Given the description of an element on the screen output the (x, y) to click on. 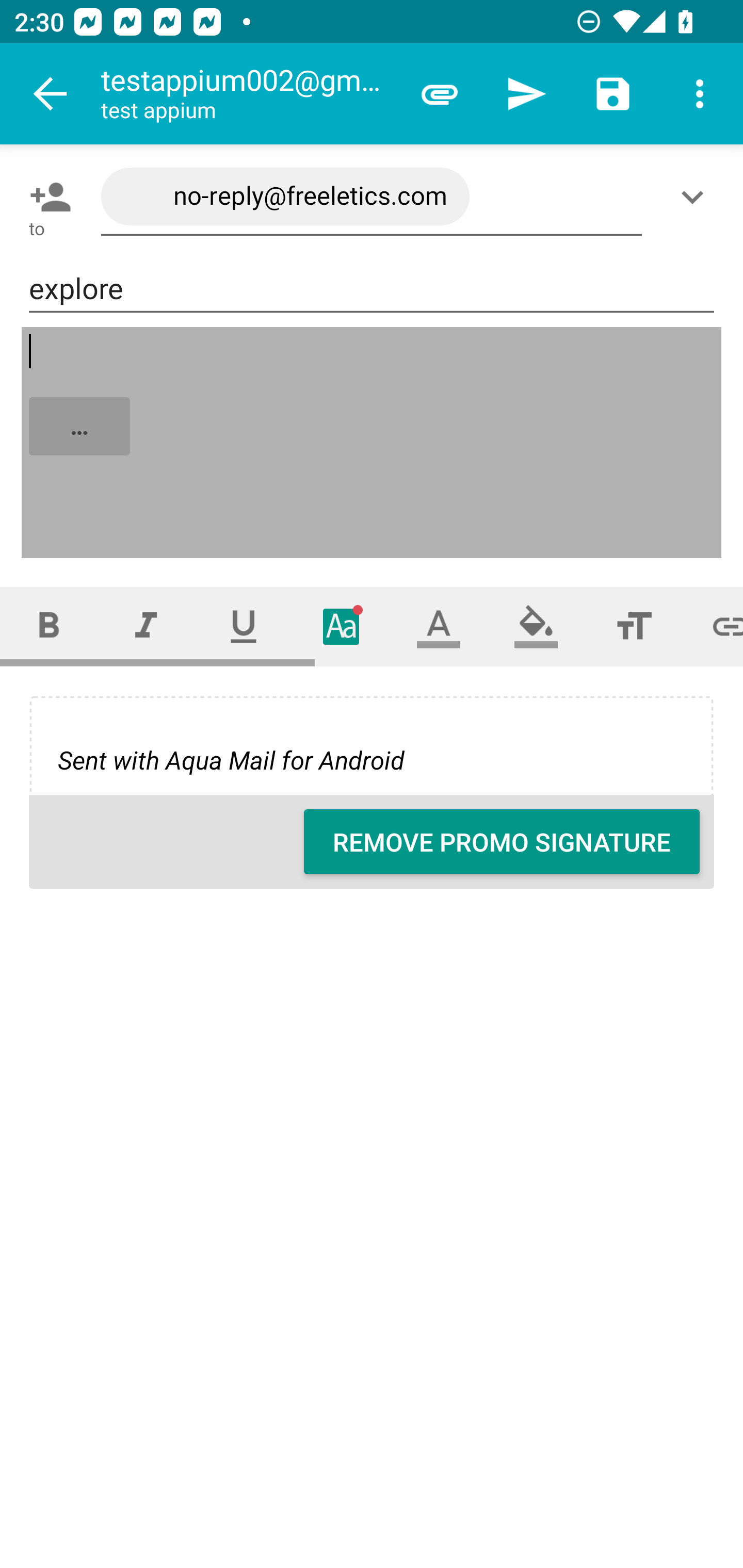
Navigate up (50, 93)
testappium002@gmail.com test appium (248, 93)
Attach (439, 93)
Send (525, 93)
Save (612, 93)
More options (699, 93)
no-reply@freeletics.com,  (371, 197)
Pick contact: To (46, 196)
Show/Add CC/BCC (696, 196)
explore (371, 288)

…
 (372, 442)
Bold (48, 626)
Italic (145, 626)
Underline (243, 626)
Typeface (font) (341, 626)
Text color (438, 626)
Fill color (536, 626)
Font size (633, 626)
REMOVE PROMO SIGNATURE (501, 841)
